Given the description of an element on the screen output the (x, y) to click on. 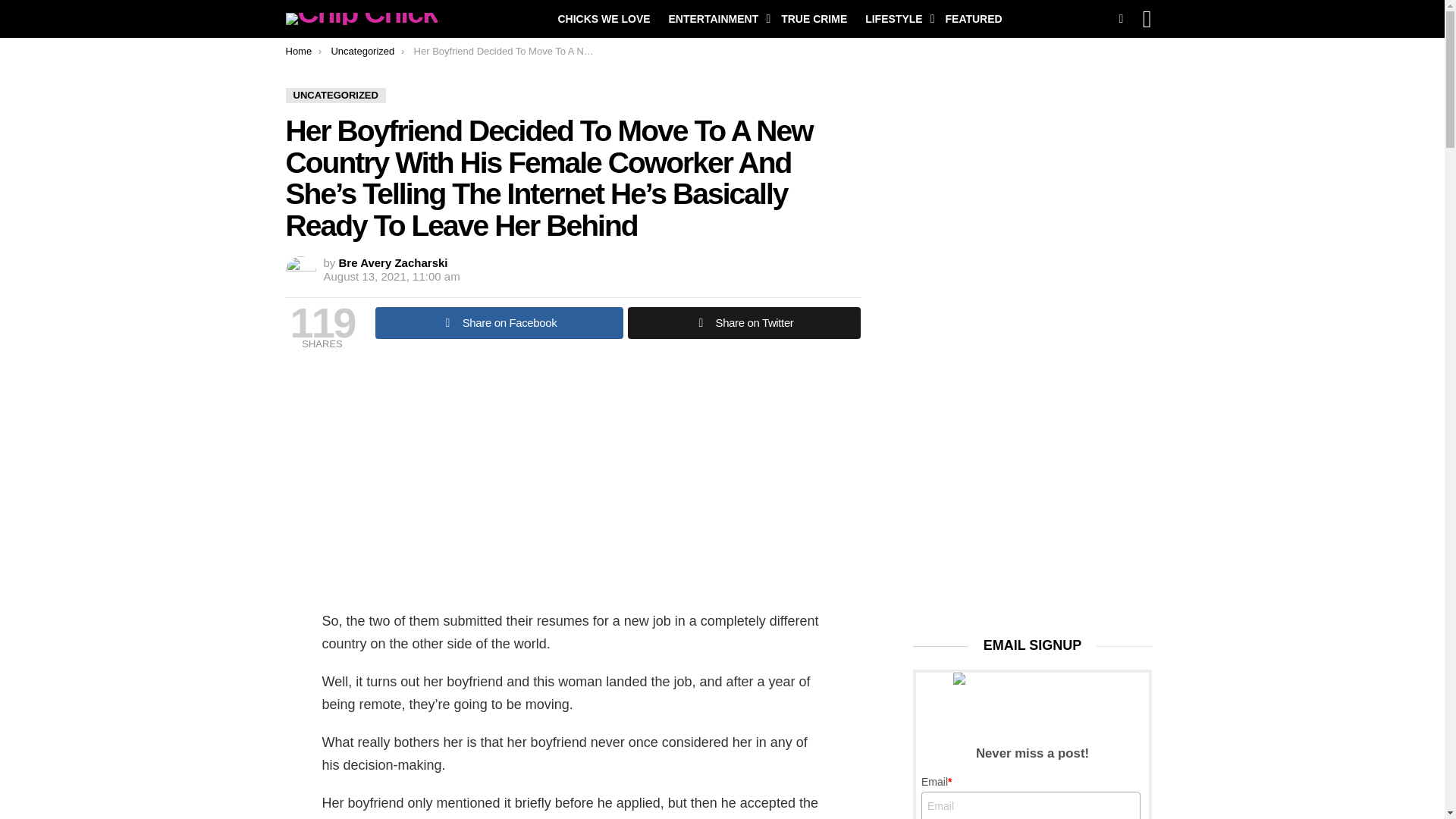
FEATURED (973, 18)
CHICKS WE LOVE (604, 18)
Posts by Bre Avery Zacharski (393, 262)
ENTERTAINMENT (716, 18)
TRUE CRIME (813, 18)
Email (1030, 805)
LIFESTYLE (895, 18)
